Given the description of an element on the screen output the (x, y) to click on. 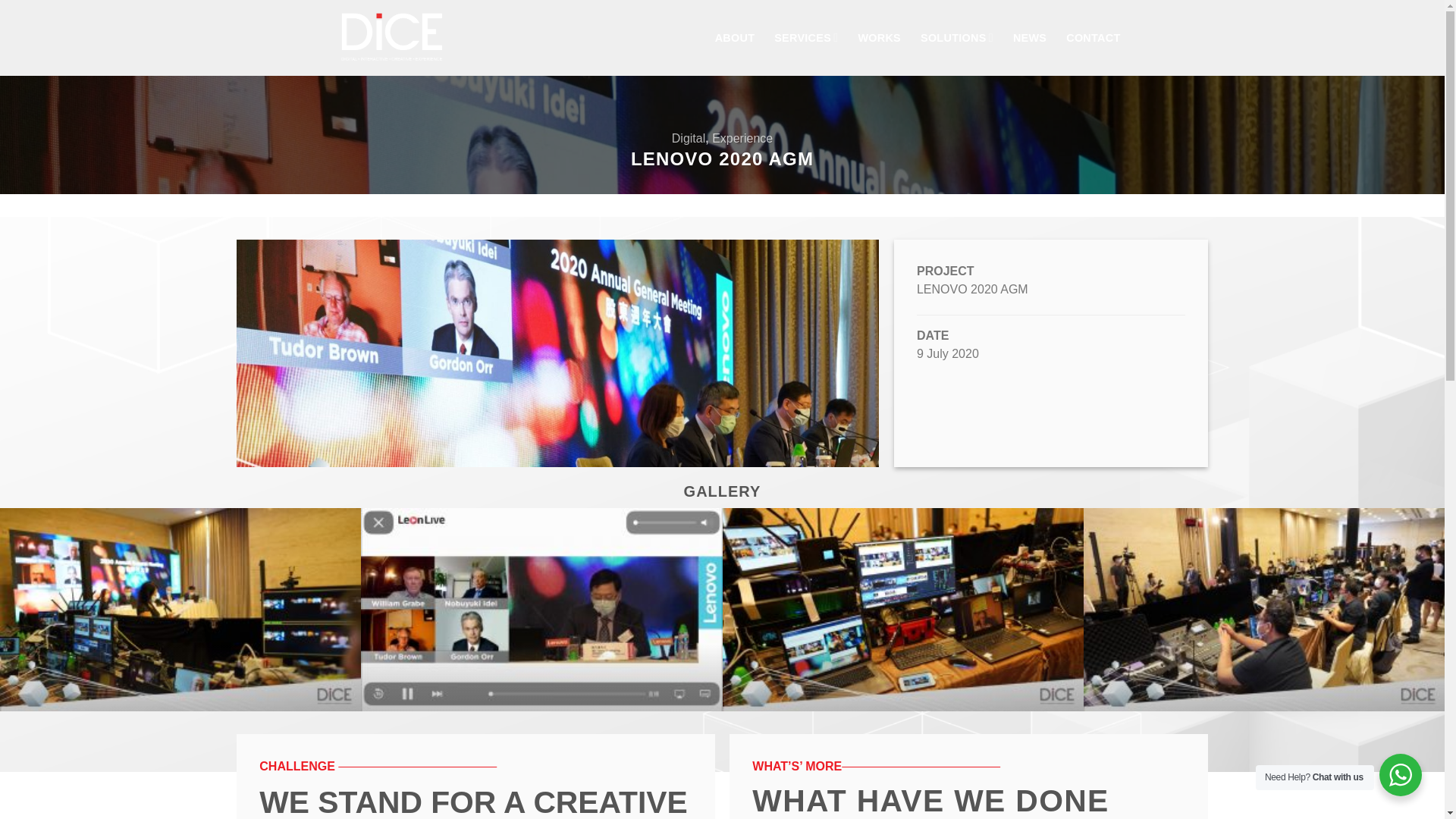
Digital (687, 137)
WORKS (879, 37)
Dice Creation - Endless Possibilities (400, 38)
Experience (742, 137)
SOLUTIONS (956, 37)
CONTACT (1092, 37)
SERVICES (806, 37)
ABOUT (734, 37)
NEWS (1029, 37)
